Given the description of an element on the screen output the (x, y) to click on. 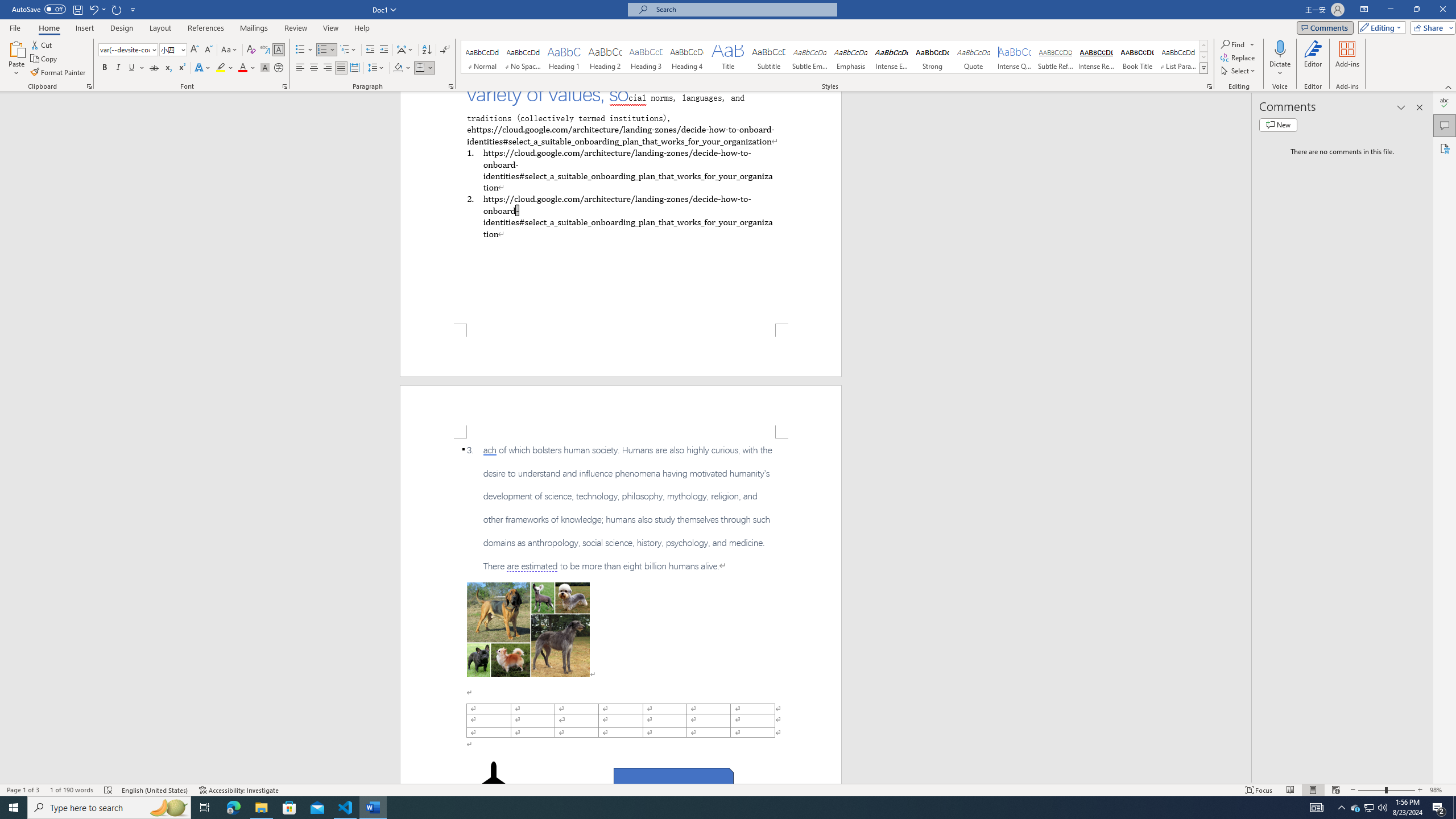
Numbering (322, 49)
Enclose Characters... (278, 67)
Zoom Out (1371, 790)
Styles... (1209, 85)
Airplane with solid fill (493, 783)
Italic (118, 67)
Dictate (1280, 48)
Asian Layout (405, 49)
Row Down (1203, 56)
Header -Section 1- (620, 411)
Row up (1203, 45)
Find (1232, 44)
